Given the description of an element on the screen output the (x, y) to click on. 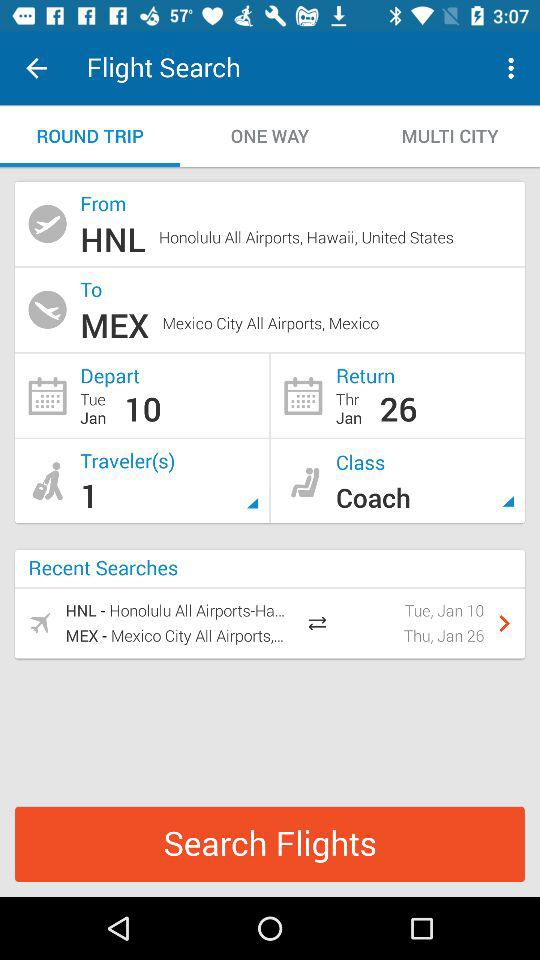
tap icon next to the round trip item (270, 136)
